Given the description of an element on the screen output the (x, y) to click on. 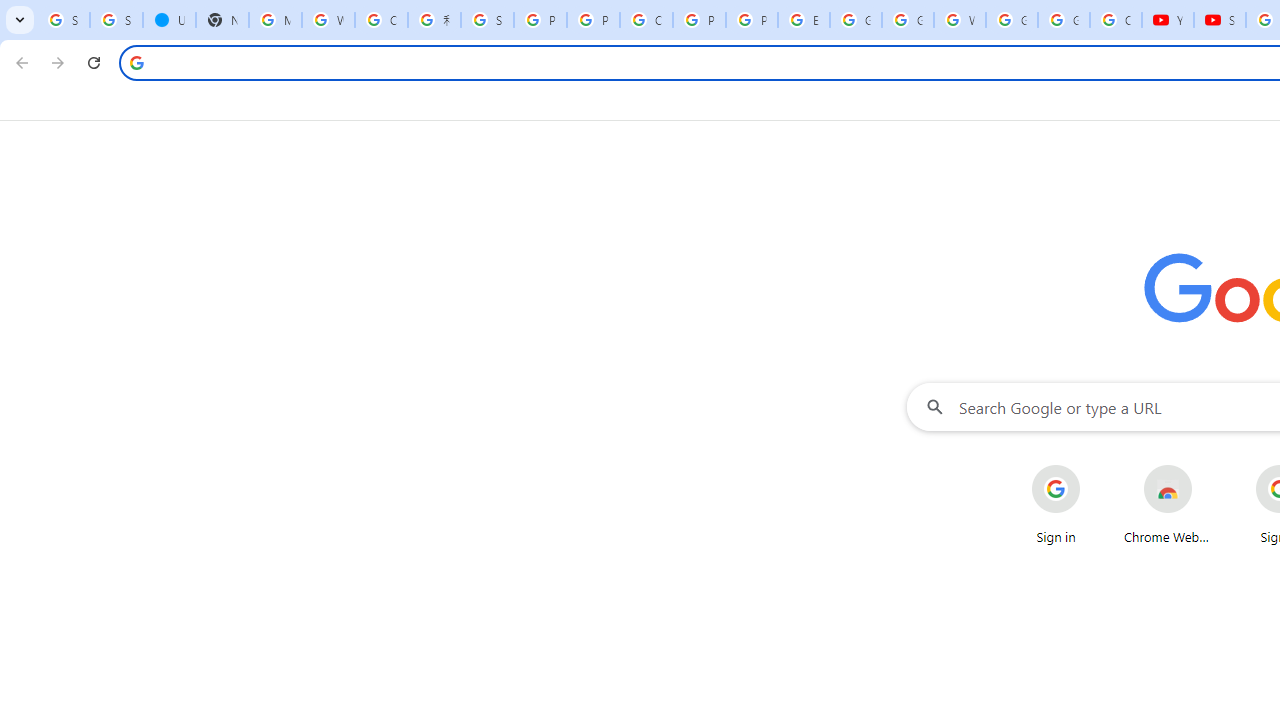
Who is my administrator? - Google Account Help (328, 20)
Google Slides: Sign-in (855, 20)
Create your Google Account (381, 20)
New Tab (222, 20)
Chrome Web Store (1167, 504)
Google Account (1064, 20)
More actions for Sign in shortcut (1095, 466)
